Given the description of an element on the screen output the (x, y) to click on. 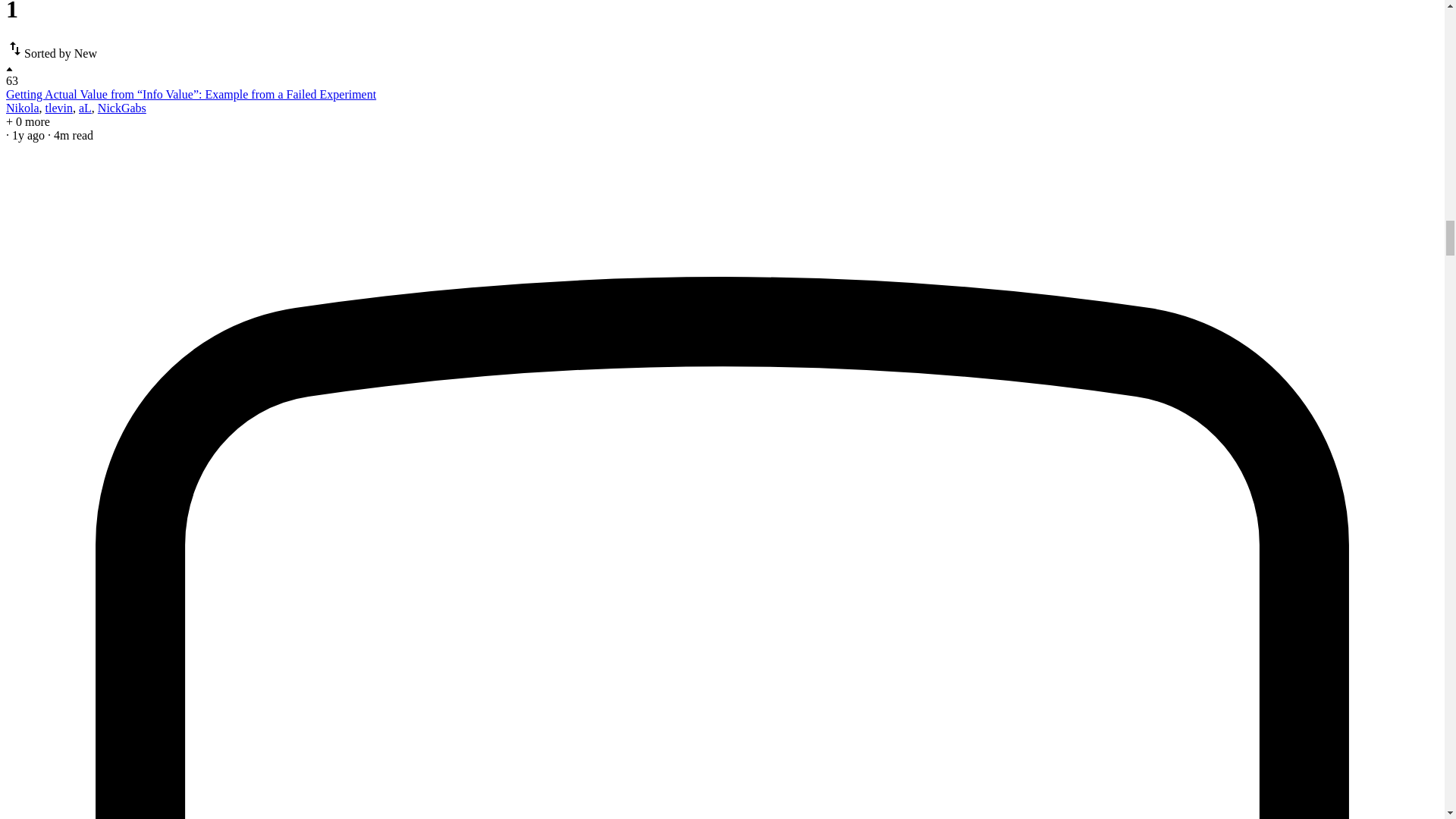
Nikola (22, 107)
NickGabs (122, 107)
tlevin (58, 107)
aL (84, 107)
